Given the description of an element on the screen output the (x, y) to click on. 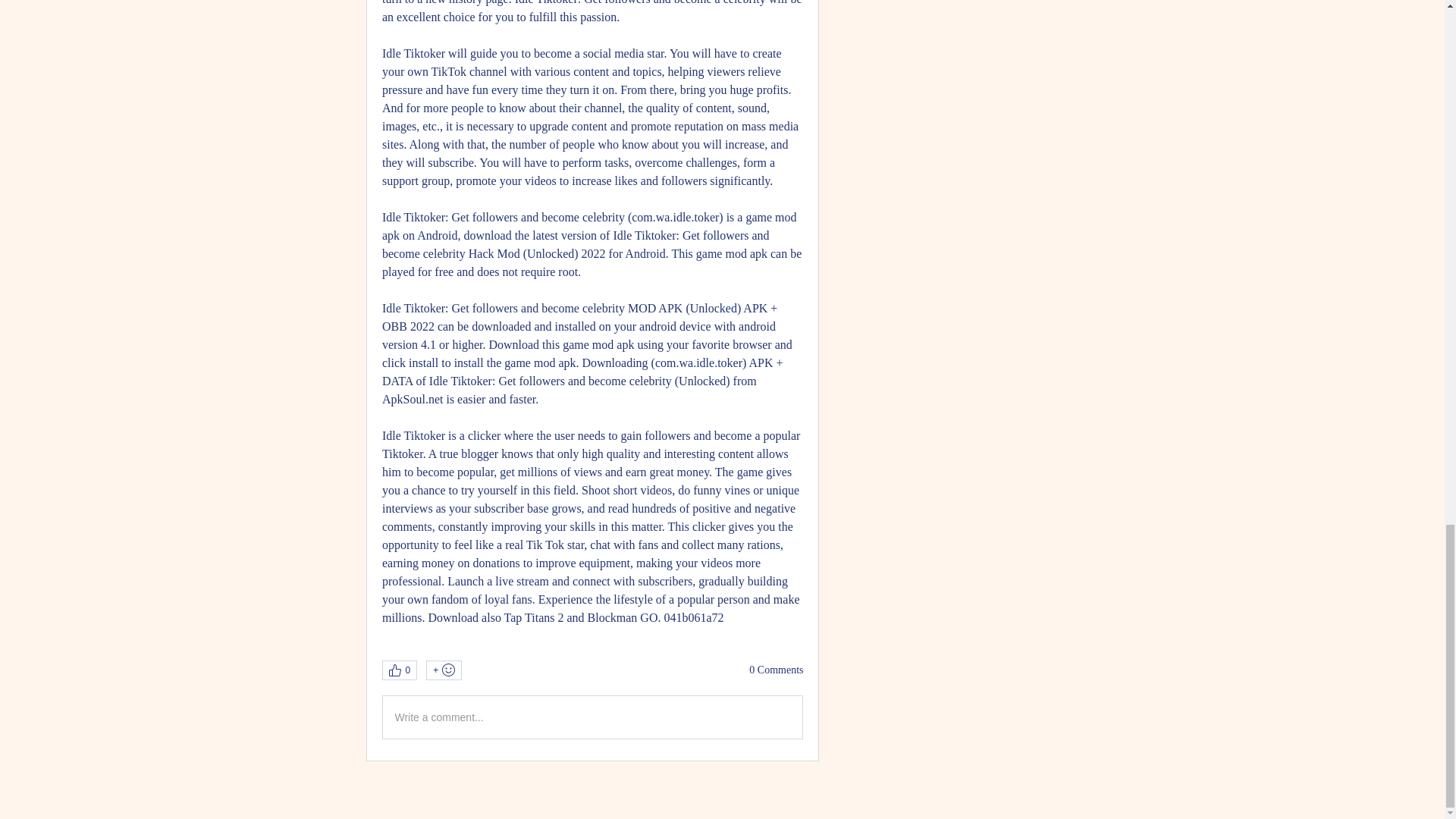
0 Comments (776, 670)
Write a comment... (591, 717)
